Given the description of an element on the screen output the (x, y) to click on. 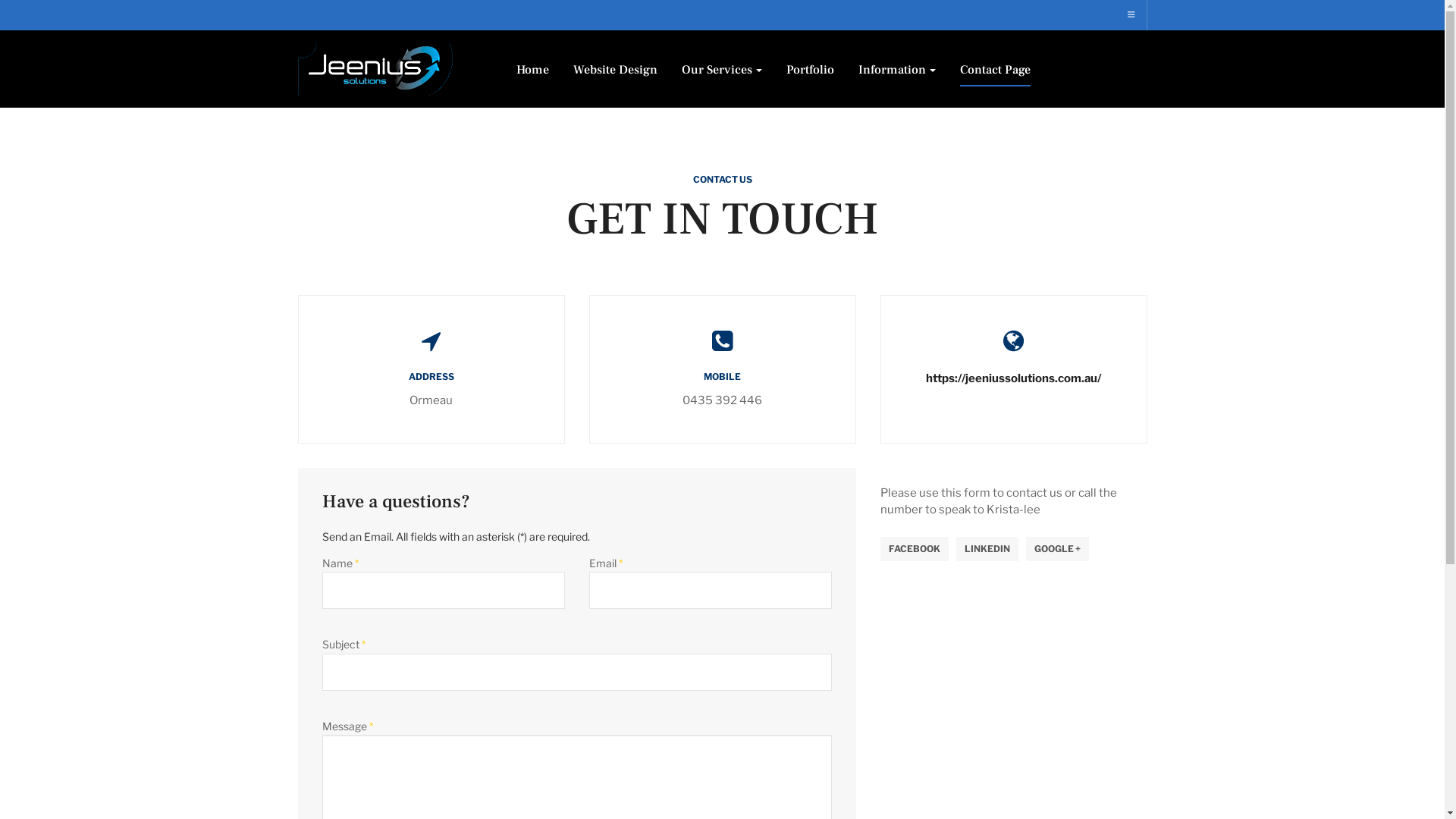
Portfolio Element type: text (809, 69)
GOOGLE + Element type: text (1057, 548)
Website Design Element type: text (615, 69)
LINKEDIN Element type: text (987, 548)
Contact Page Element type: text (995, 69)
FACEBOOK Element type: text (913, 548)
Jeenius Solutions Element type: hover (375, 68)
Home Element type: text (531, 69)
https://jeeniussolutions.com.au/ Element type: text (1013, 378)
